Given the description of an element on the screen output the (x, y) to click on. 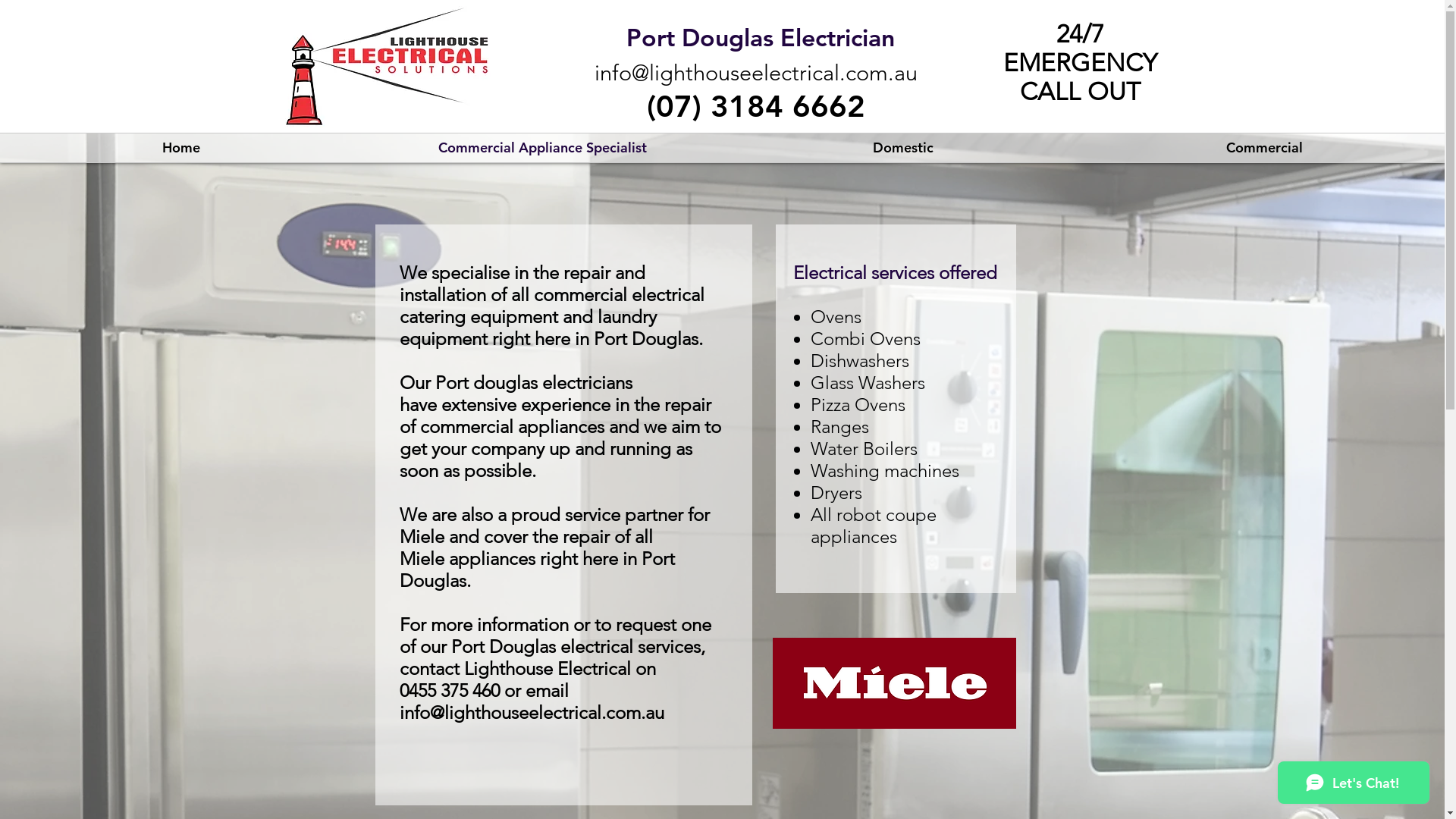
info@lighthouseelectrical.com.au Element type: text (530, 712)
info@lighthouseelectrical.com.au Element type: text (755, 72)
Commercial Appliance Specialist Element type: text (541, 147)
Commercial Element type: text (1263, 147)
Domestic Element type: text (902, 147)
Home Element type: text (180, 147)
